Given the description of an element on the screen output the (x, y) to click on. 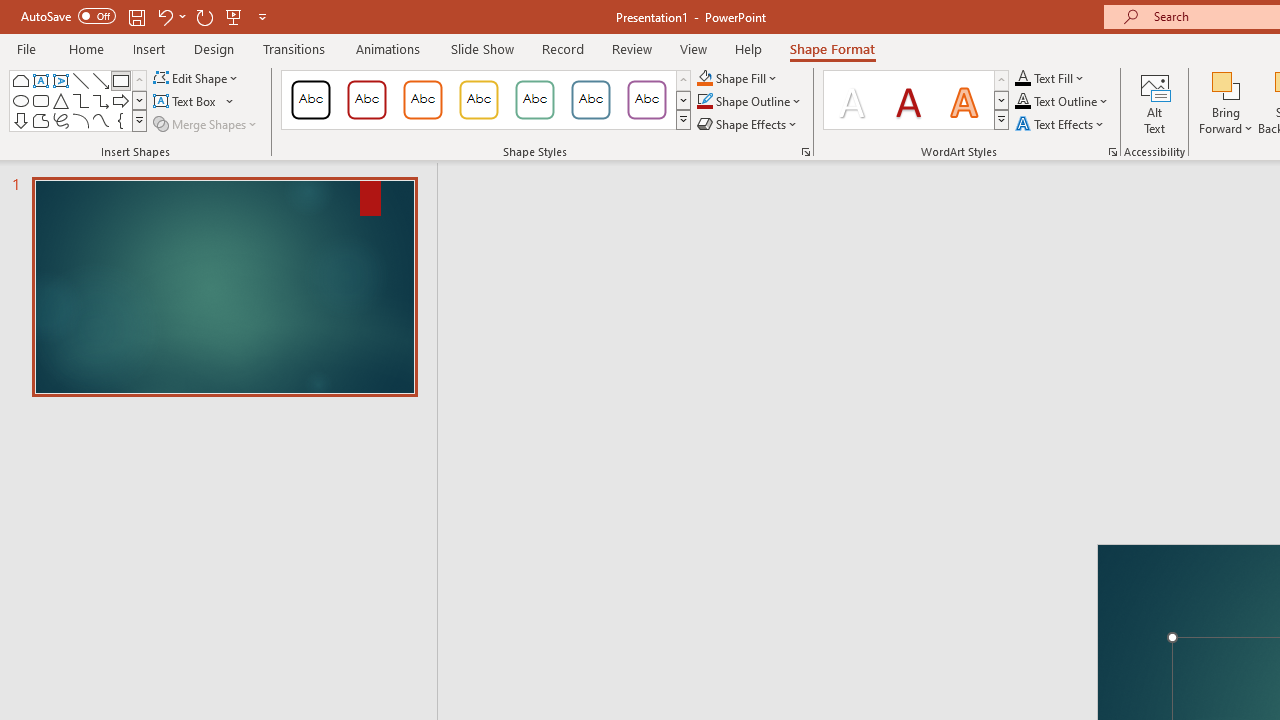
Colored Outline - Gold, Accent 3 (478, 100)
Text Outline RGB(0, 0, 0) (1023, 101)
